Given the description of an element on the screen output the (x, y) to click on. 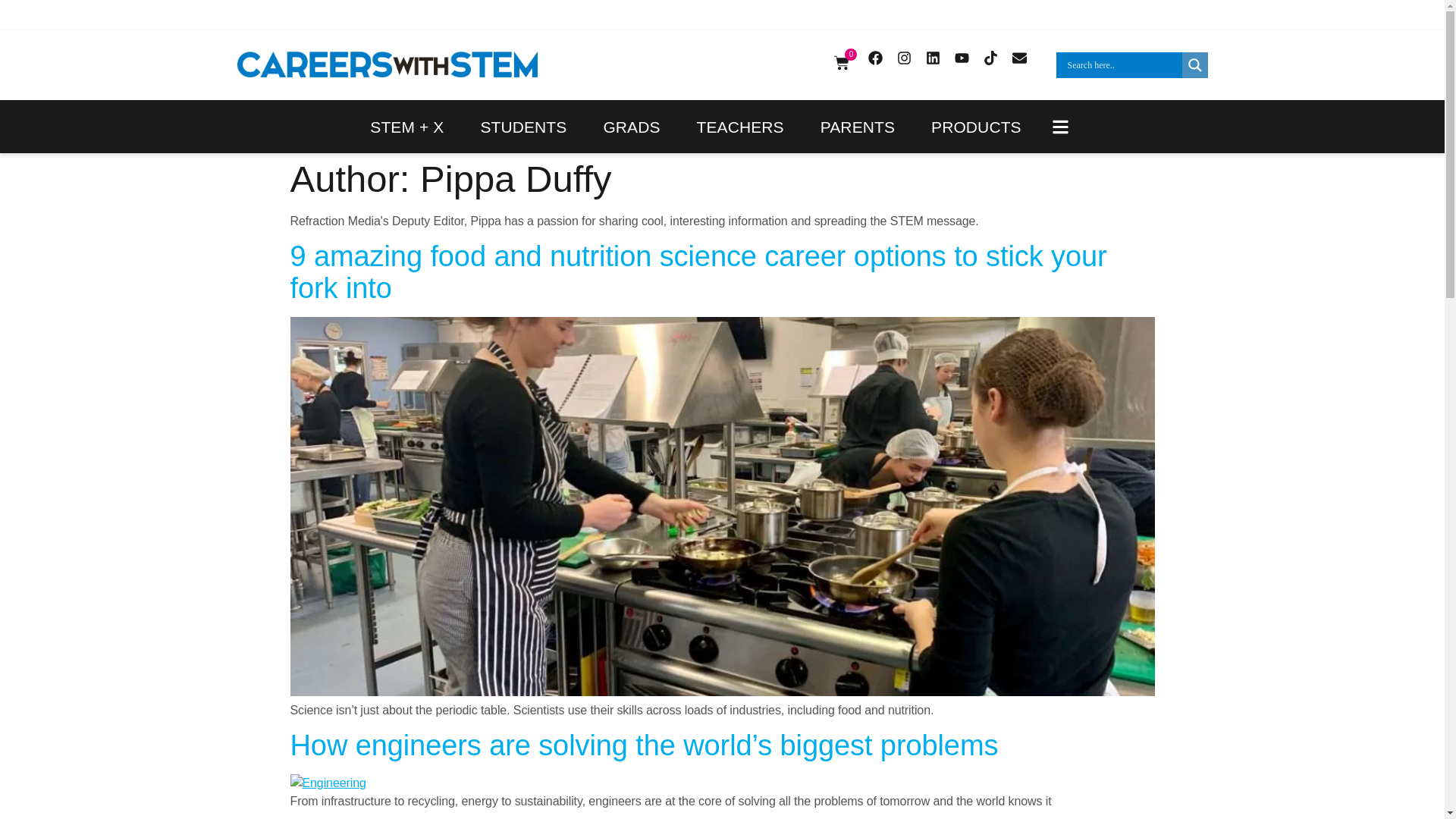
STUDENTS (522, 126)
GRADS (631, 126)
TEACHERS (739, 126)
PARENTS (857, 126)
PRODUCTS (976, 126)
